Given the description of an element on the screen output the (x, y) to click on. 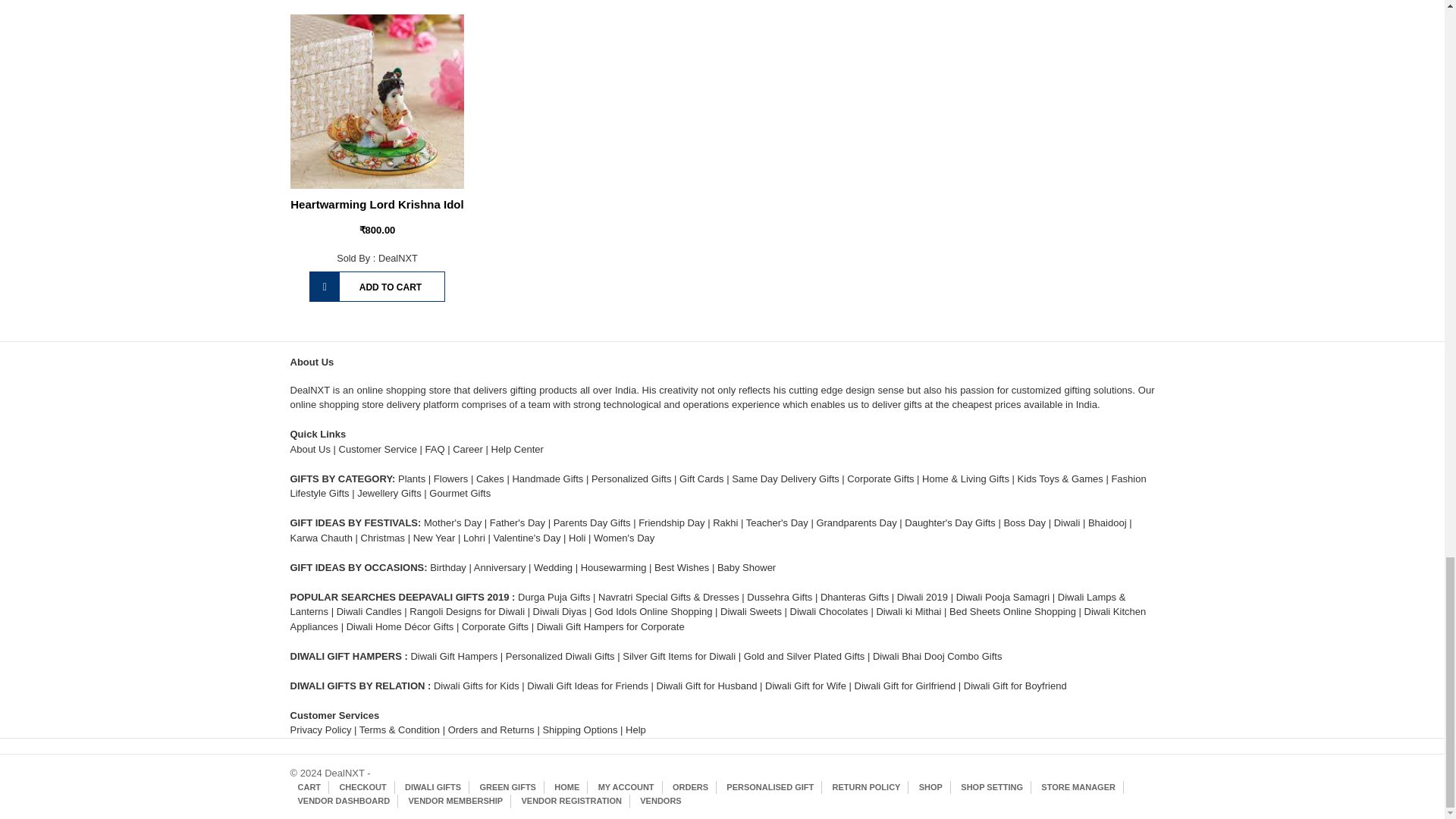
Heartwarming Lord Krishna Idol (376, 204)
Heartwarming Lord Krishna Idol (376, 101)
